Given the description of an element on the screen output the (x, y) to click on. 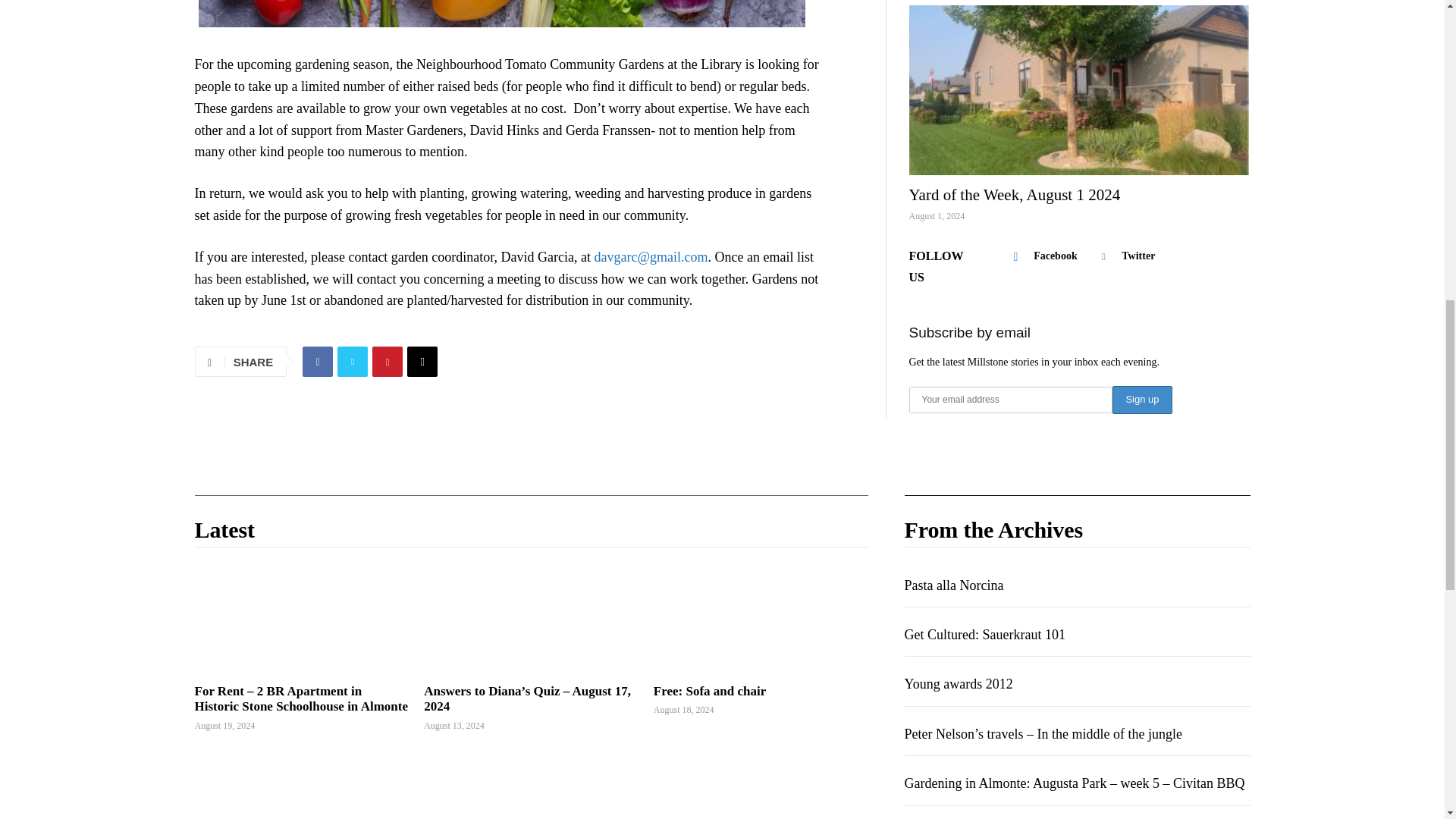
Sign up (1142, 399)
Twitter (352, 361)
Pinterest (387, 361)
Facebook (317, 361)
Email (422, 361)
